Given the description of an element on the screen output the (x, y) to click on. 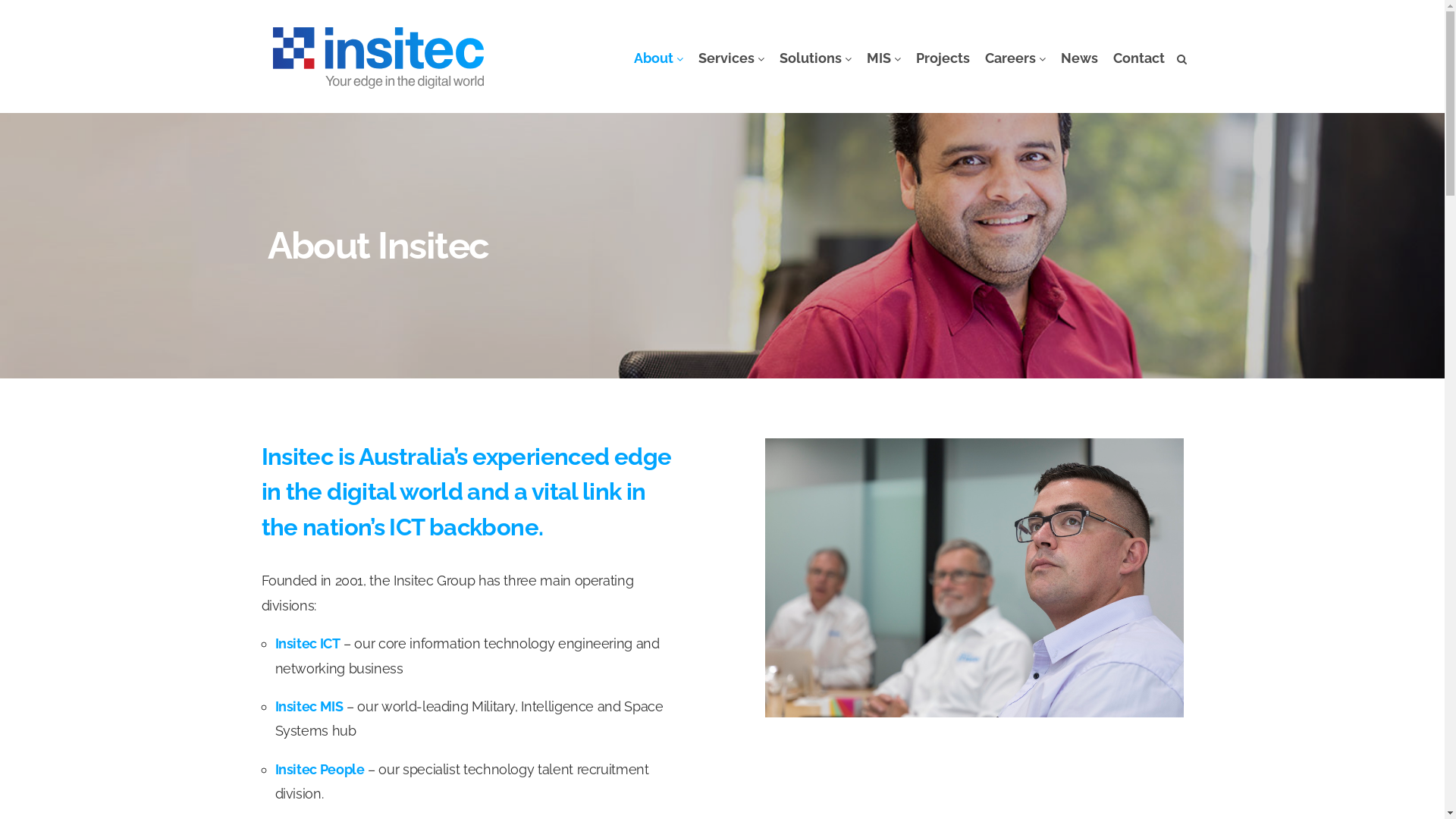
Careers Element type: text (1014, 58)
Contact Element type: text (1138, 58)
Services Element type: text (730, 58)
Insitec People Element type: text (319, 769)
Insitec ICT Element type: text (306, 643)
About Element type: text (658, 58)
Insitec MIS Element type: text (308, 706)
MIS Element type: text (882, 58)
Insitec Australia Element type: hover (378, 58)
Projects Element type: text (942, 58)
Solutions Element type: text (815, 58)
News Element type: text (1078, 58)
